Given the description of an element on the screen output the (x, y) to click on. 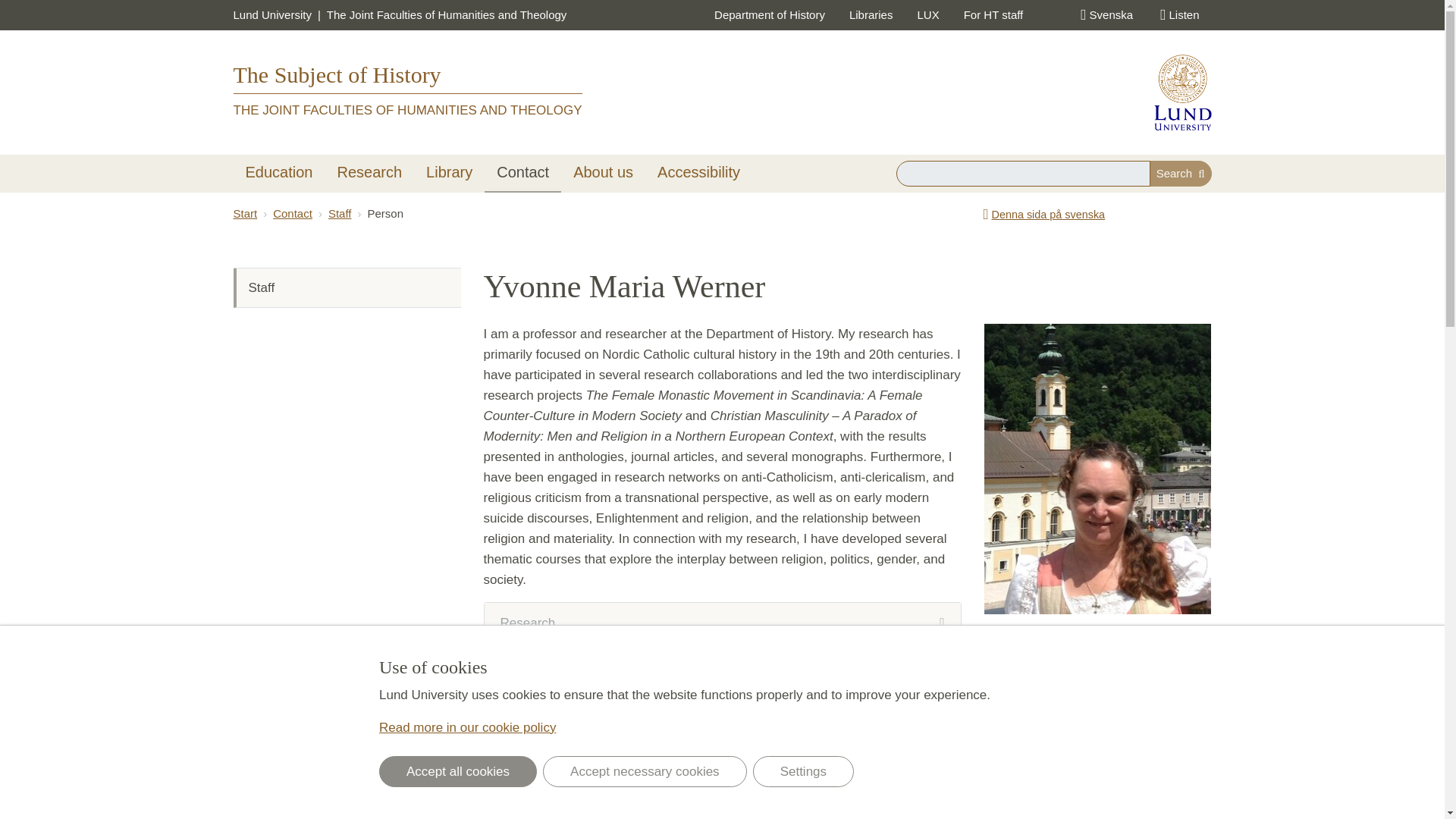
Accept all cookies (457, 770)
Accept necessary cookies (644, 770)
activate speaking web (1177, 15)
Settings (802, 770)
Read more in our cookie policy (467, 727)
